Given the description of an element on the screen output the (x, y) to click on. 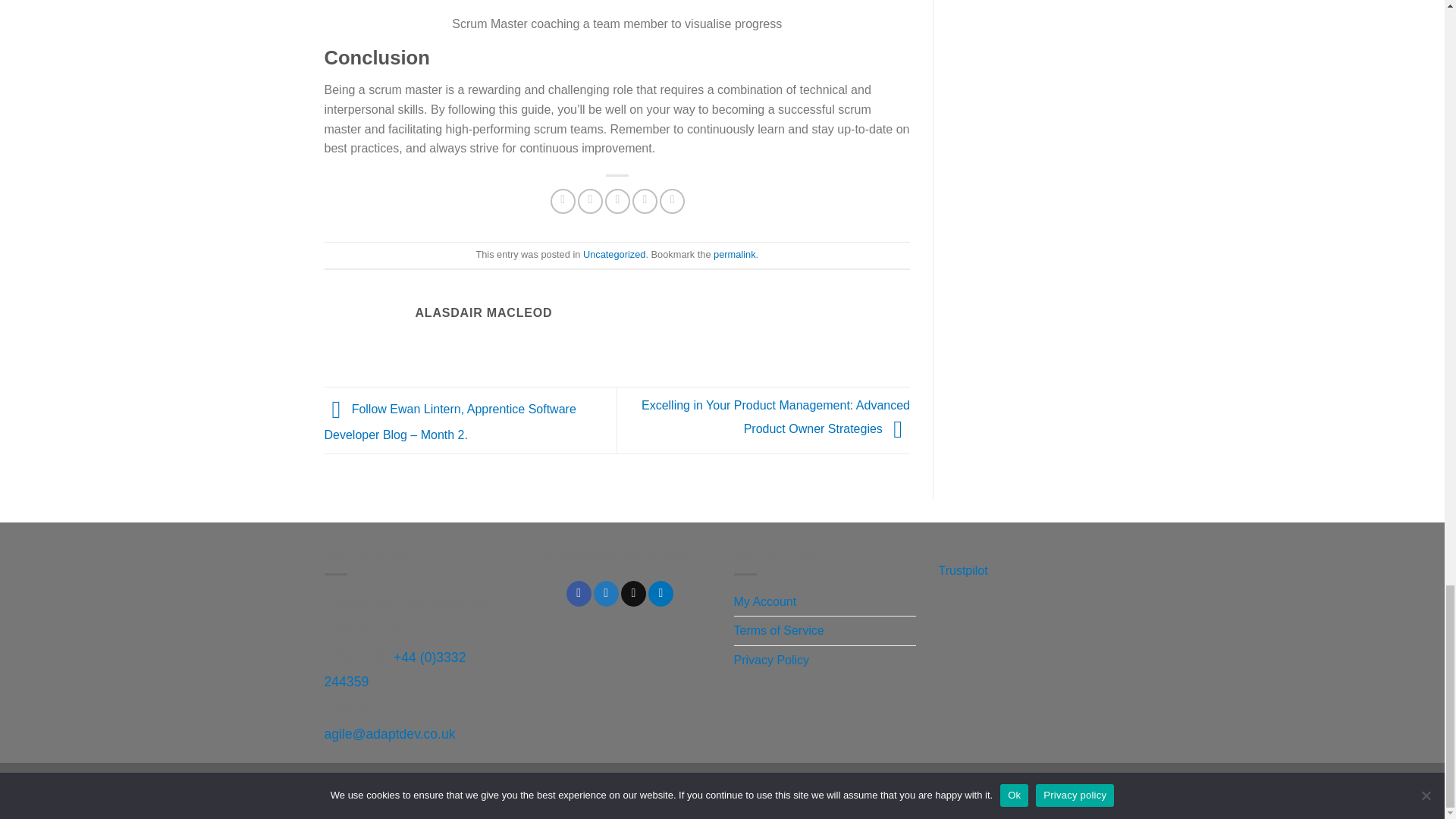
Share on LinkedIn (671, 201)
Share on Twitter (590, 201)
Pin on Pinterest (644, 201)
Share on Facebook (562, 201)
Email to a Friend (617, 201)
Permalink to Scrum Master Guide: Everything You Need to Know (734, 254)
